Given the description of an element on the screen output the (x, y) to click on. 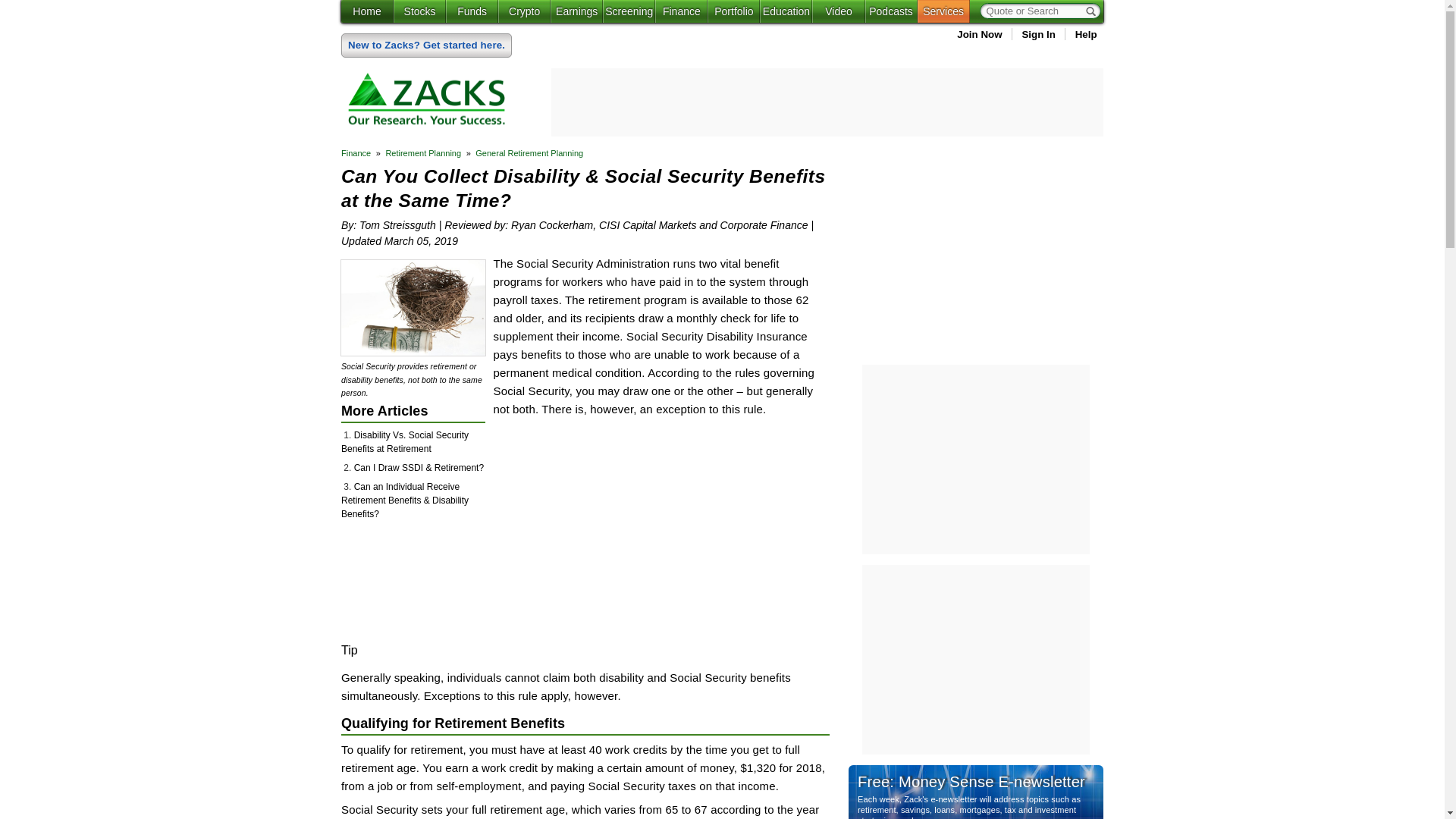
Crypto (523, 11)
Stocks (419, 11)
Screening (628, 11)
Advertisement (651, 530)
Portfolio (733, 11)
Roll image by Mykola Velychko from Fotolia.com (412, 307)
Funds (471, 11)
Finance (681, 11)
Earnings (576, 11)
Home (366, 11)
